Given the description of an element on the screen output the (x, y) to click on. 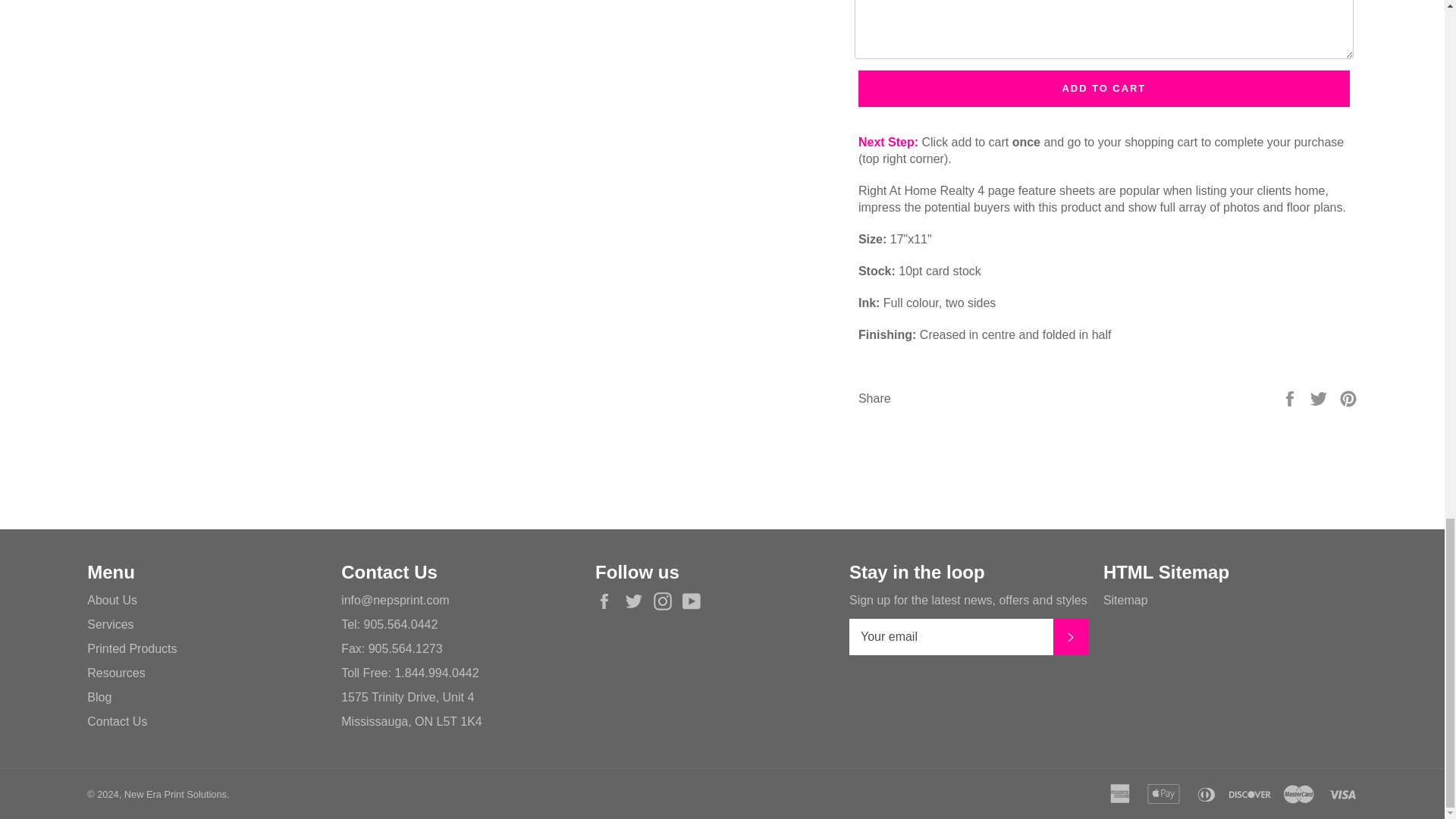
Pin on Pinterest (1347, 397)
New Era Print Solutions on Facebook (608, 601)
Share on Facebook (1291, 397)
Tweet on Twitter (1319, 397)
New Era Print Solutions on YouTube (694, 601)
New Era Print Solutions on Instagram (666, 601)
New Era Print Solutions on Twitter (637, 601)
